Given the description of an element on the screen output the (x, y) to click on. 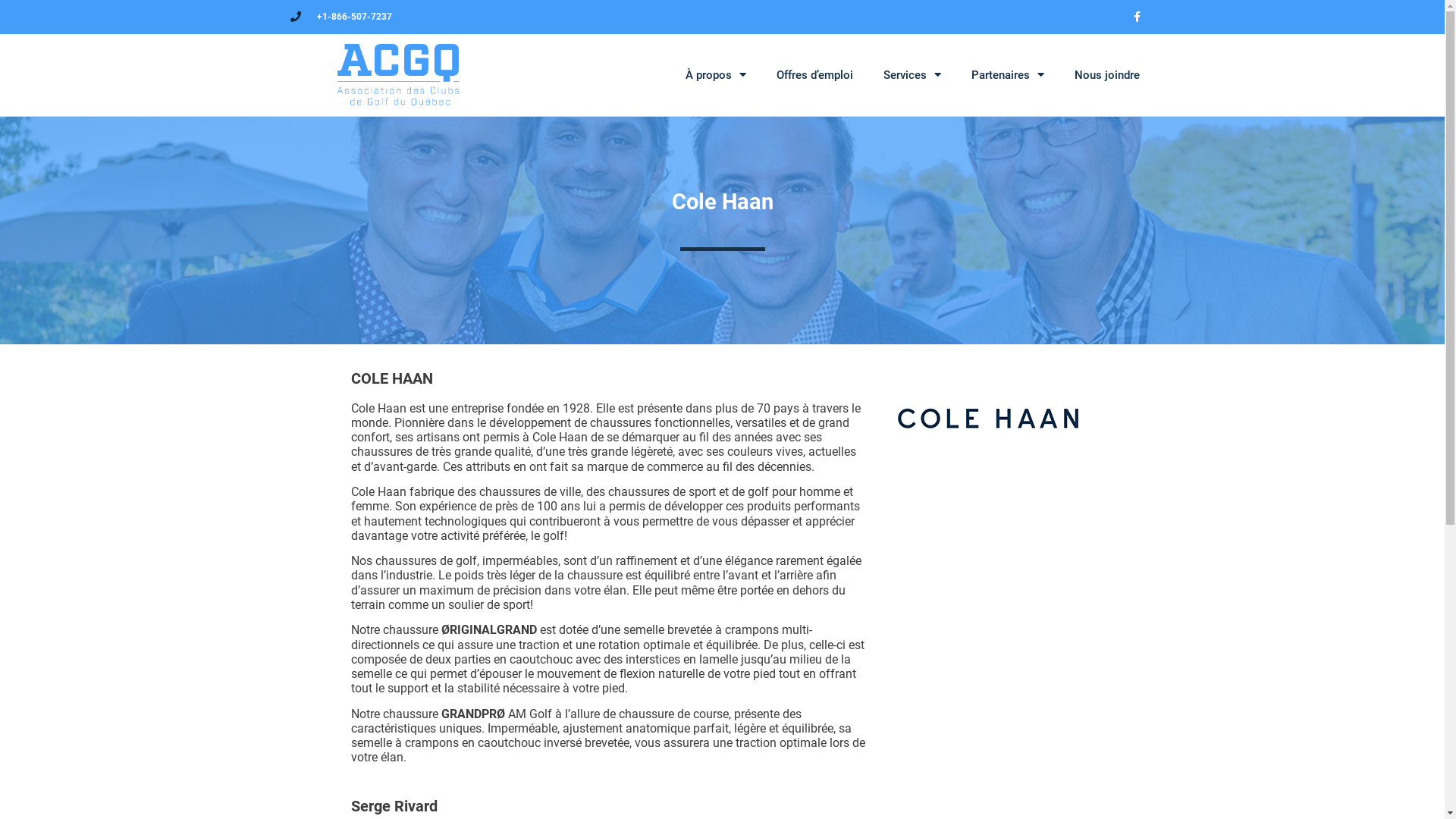
Services Element type: text (911, 75)
Nous joindre Element type: text (1106, 75)
Partenaires Element type: text (1006, 75)
